Given the description of an element on the screen output the (x, y) to click on. 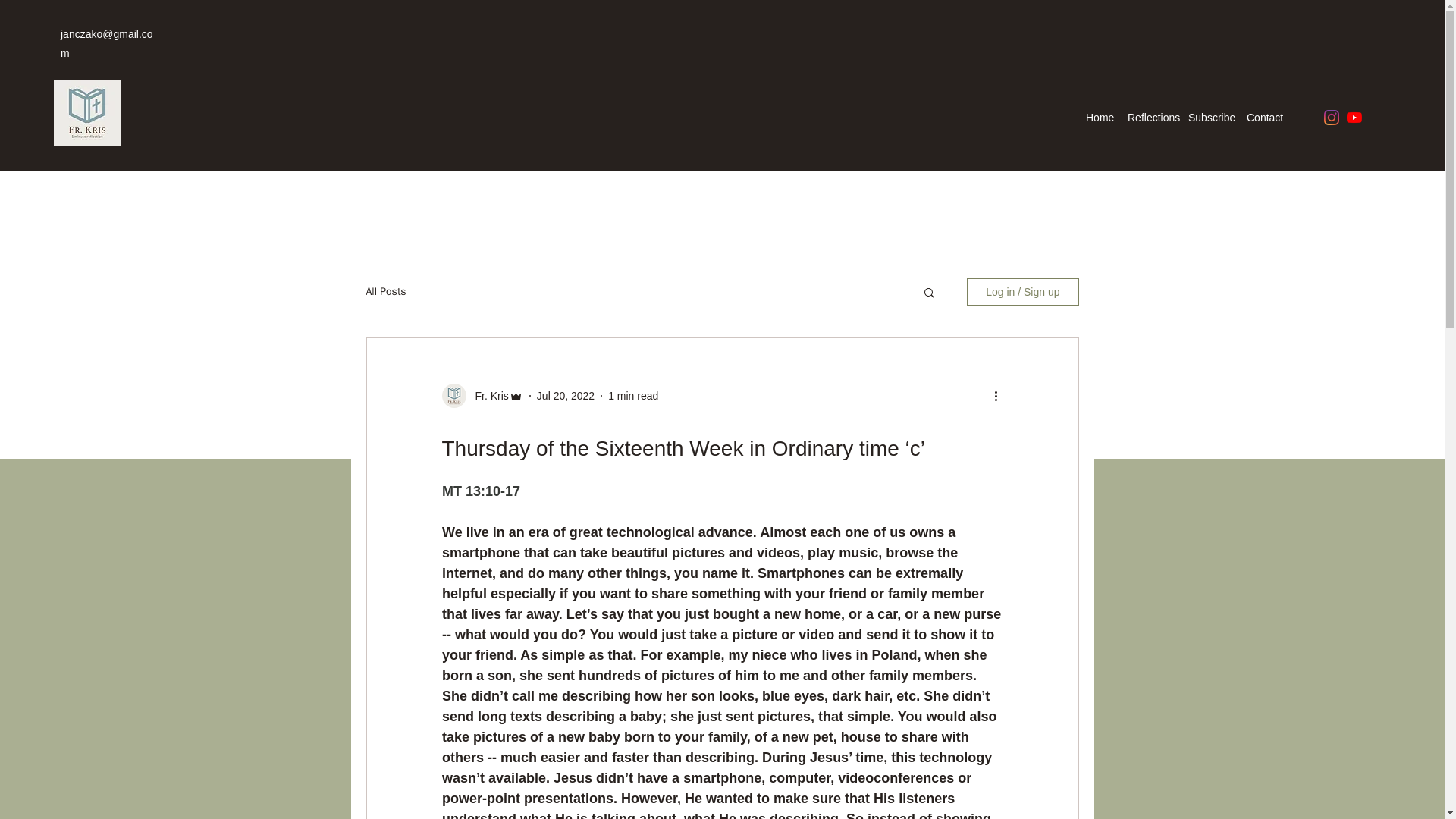
1 min read (633, 395)
Subscribe (1209, 117)
MT 13:10-17 (480, 491)
Jul 20, 2022 (565, 395)
Fr. Kris (486, 396)
Home (1098, 117)
Contact (1263, 117)
All Posts (385, 291)
Reflections (1149, 117)
